Given the description of an element on the screen output the (x, y) to click on. 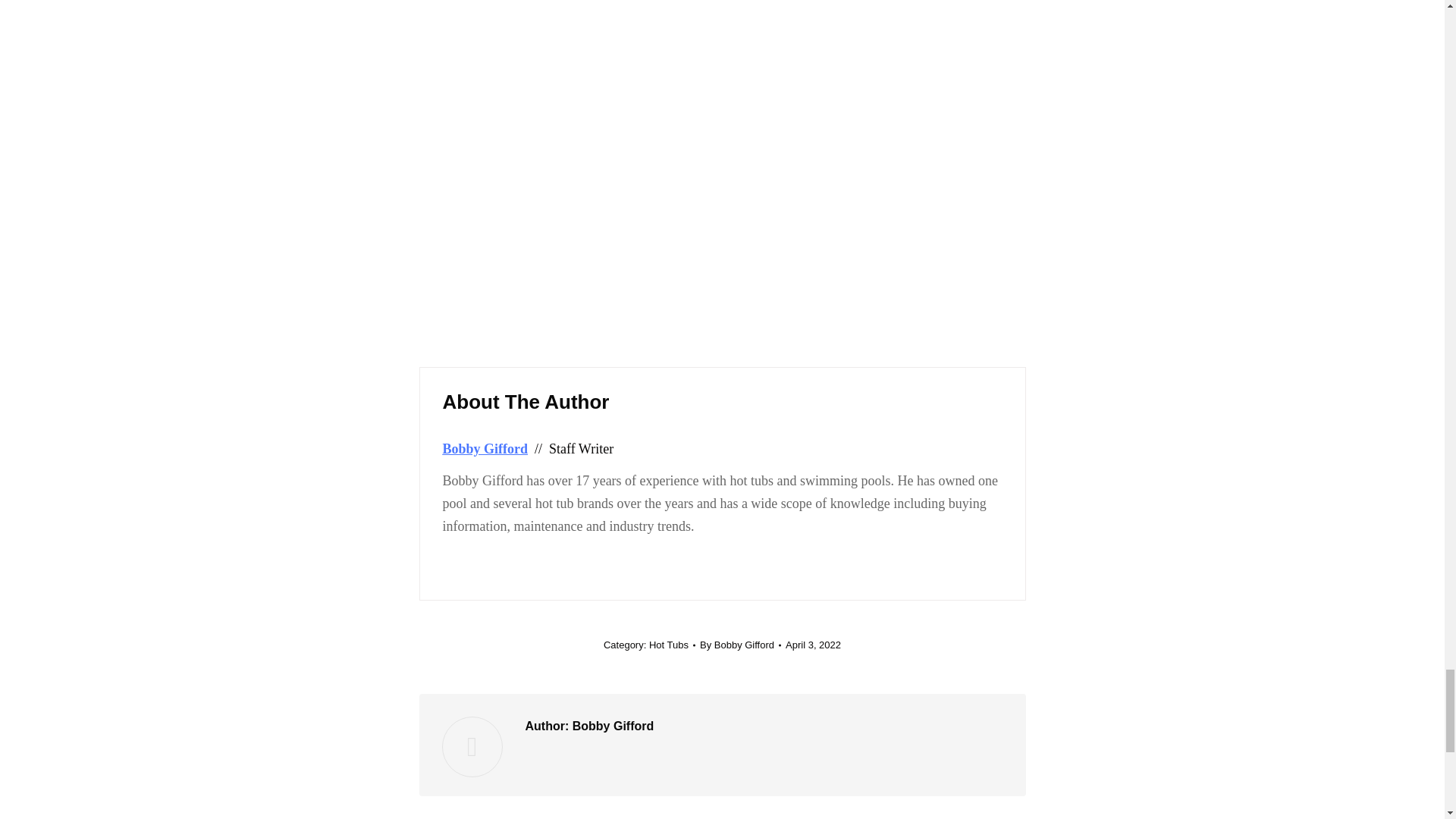
8:01 am (813, 644)
Bobby Gifford (485, 448)
April 3, 2022 (813, 644)
Hot Tubs (668, 644)
View all posts by Bobby Gifford (740, 644)
By Bobby Gifford (740, 644)
